Given the description of an element on the screen output the (x, y) to click on. 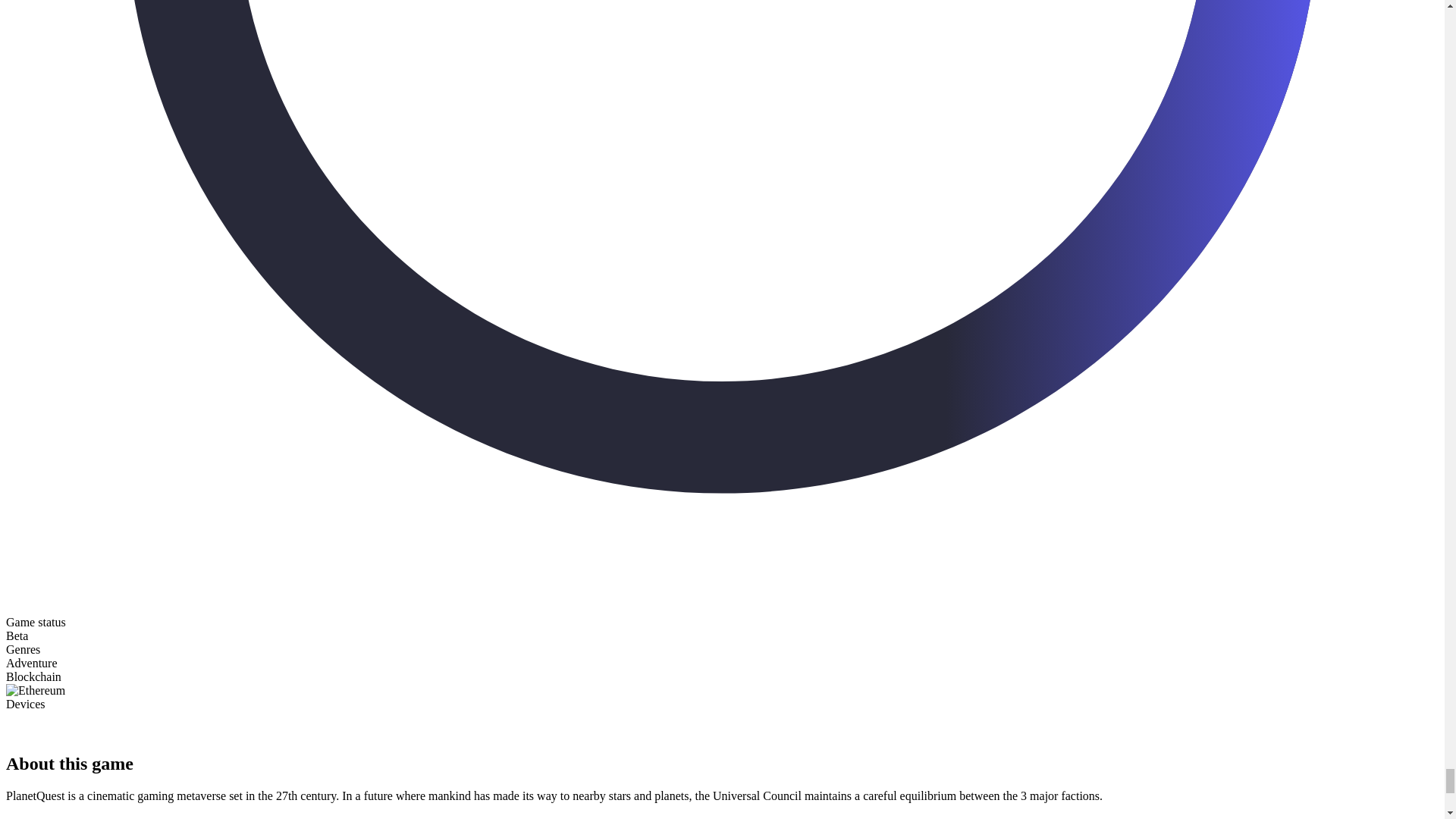
Ethereum (35, 690)
